Given the description of an element on the screen output the (x, y) to click on. 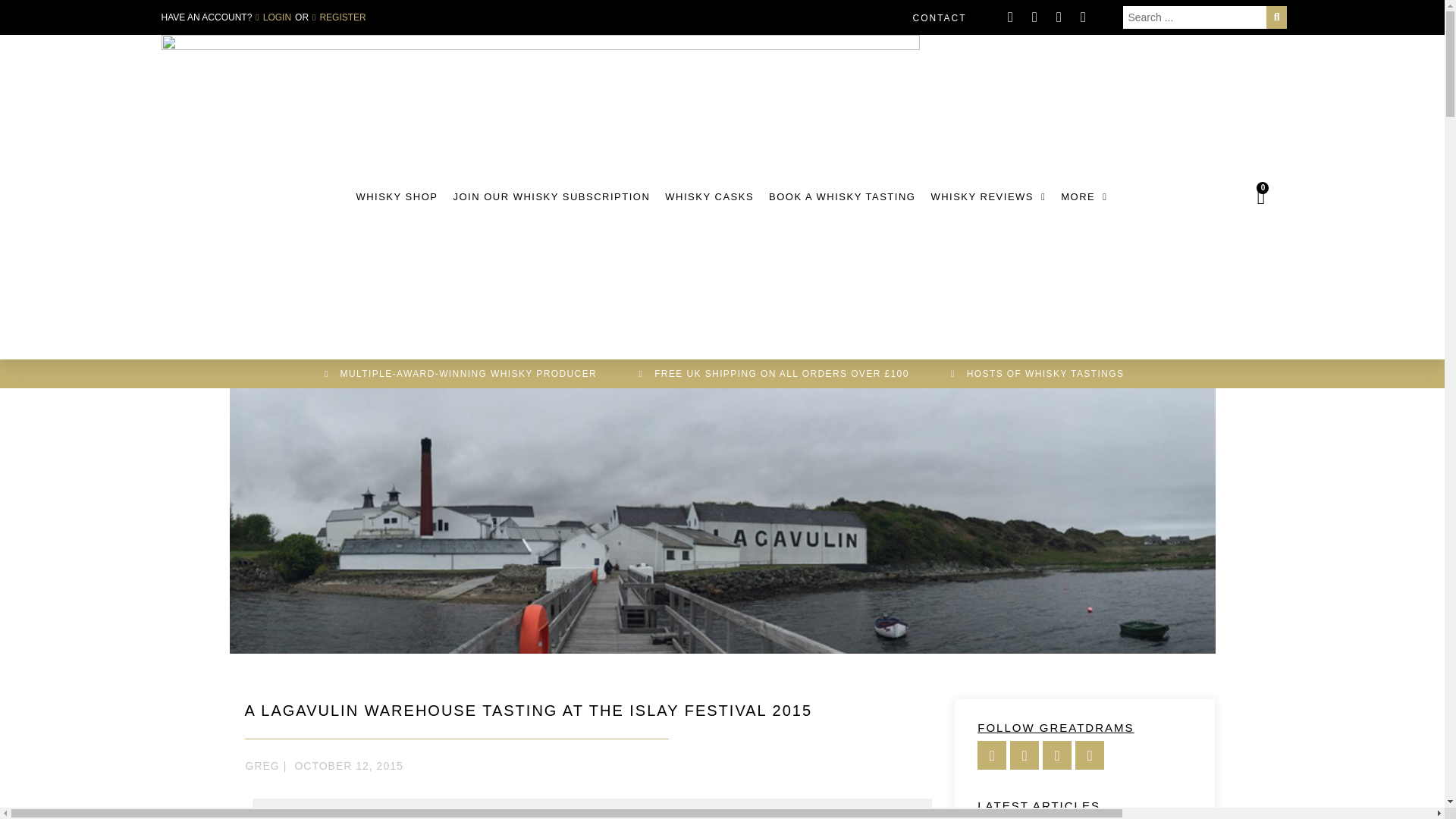
LOGIN (273, 17)
BOOK A WHISKY TASTING (842, 196)
CONTACT (939, 17)
JOIN OUR WHISKY SUBSCRIPTION (551, 196)
WHISKY CASKS (709, 196)
WHISKY SHOP (396, 196)
REGISTER (339, 17)
WHISKY REVIEWS (987, 196)
